Given the description of an element on the screen output the (x, y) to click on. 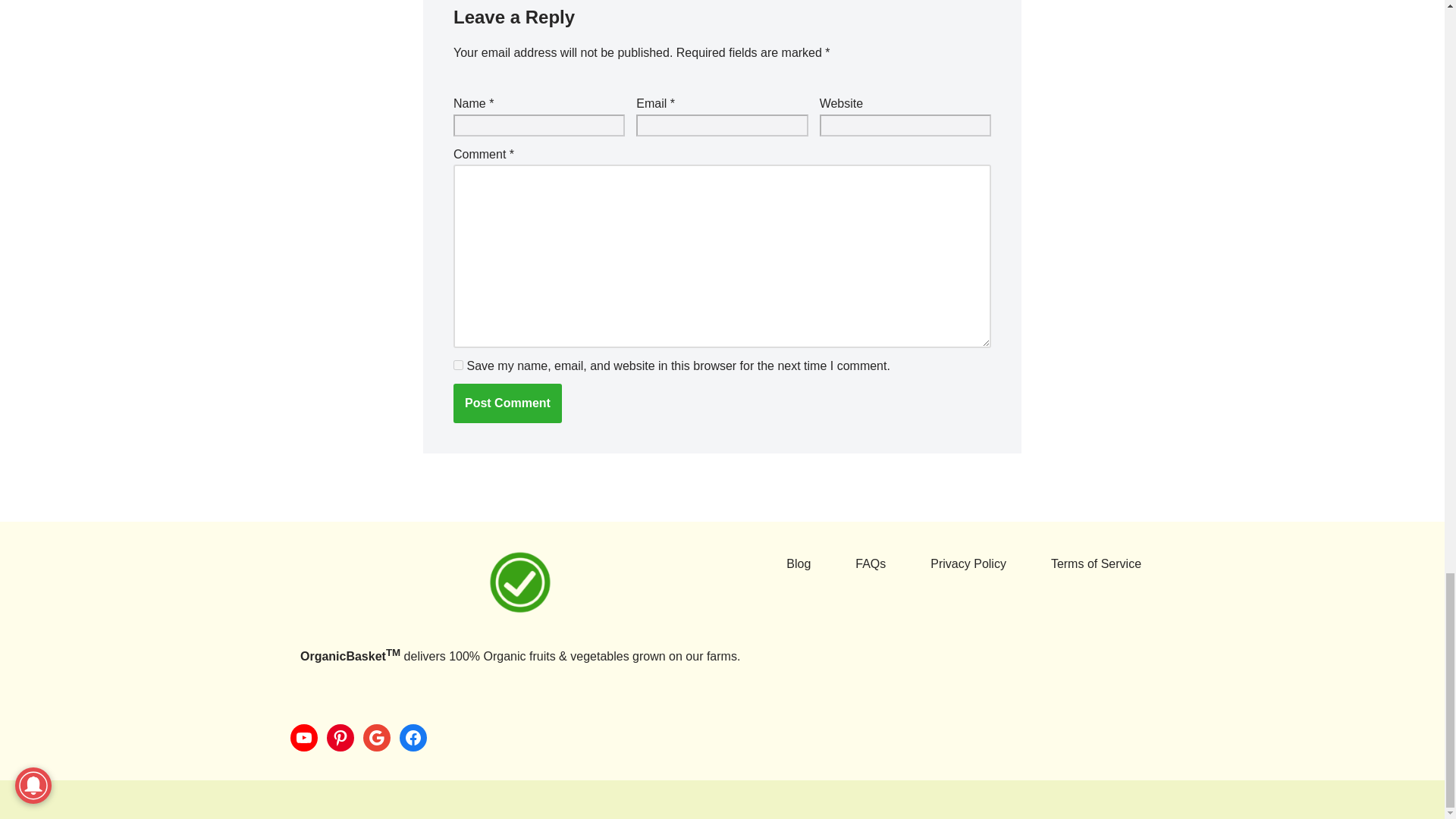
Terms of Service (1096, 563)
Blog (798, 563)
yes (457, 365)
Post Comment (507, 403)
Post Comment (507, 403)
FAQs (870, 563)
Privacy Policy (968, 563)
